Given the description of an element on the screen output the (x, y) to click on. 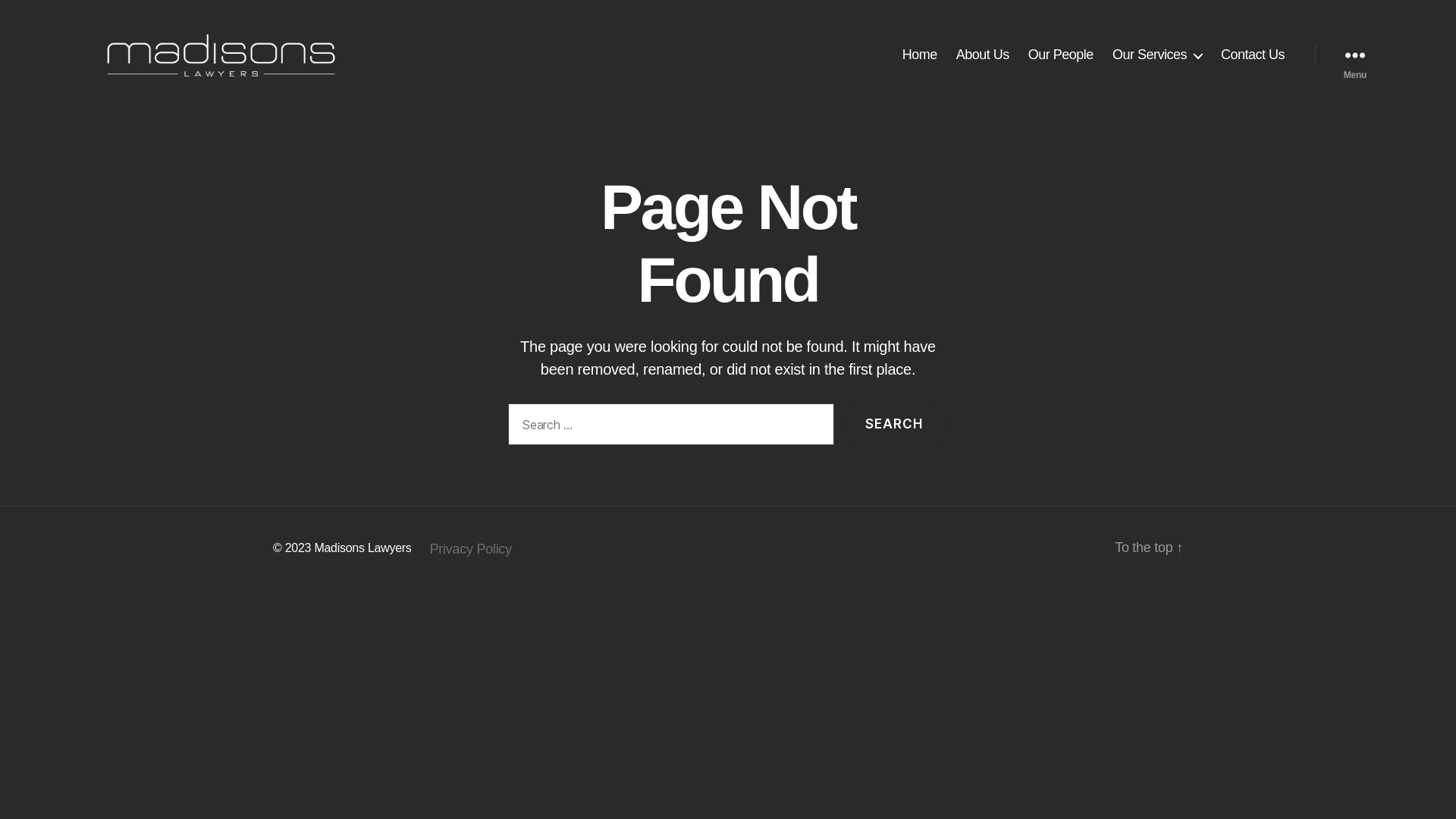
Home Element type: text (919, 55)
Menu Element type: text (1354, 55)
Our People Element type: text (1060, 55)
About Us Element type: text (982, 55)
Privacy Policy Element type: text (470, 548)
Search Element type: text (893, 424)
Madisons Lawyers Element type: text (362, 547)
Contact Us Element type: text (1252, 55)
Our Services Element type: text (1156, 55)
